Given the description of an element on the screen output the (x, y) to click on. 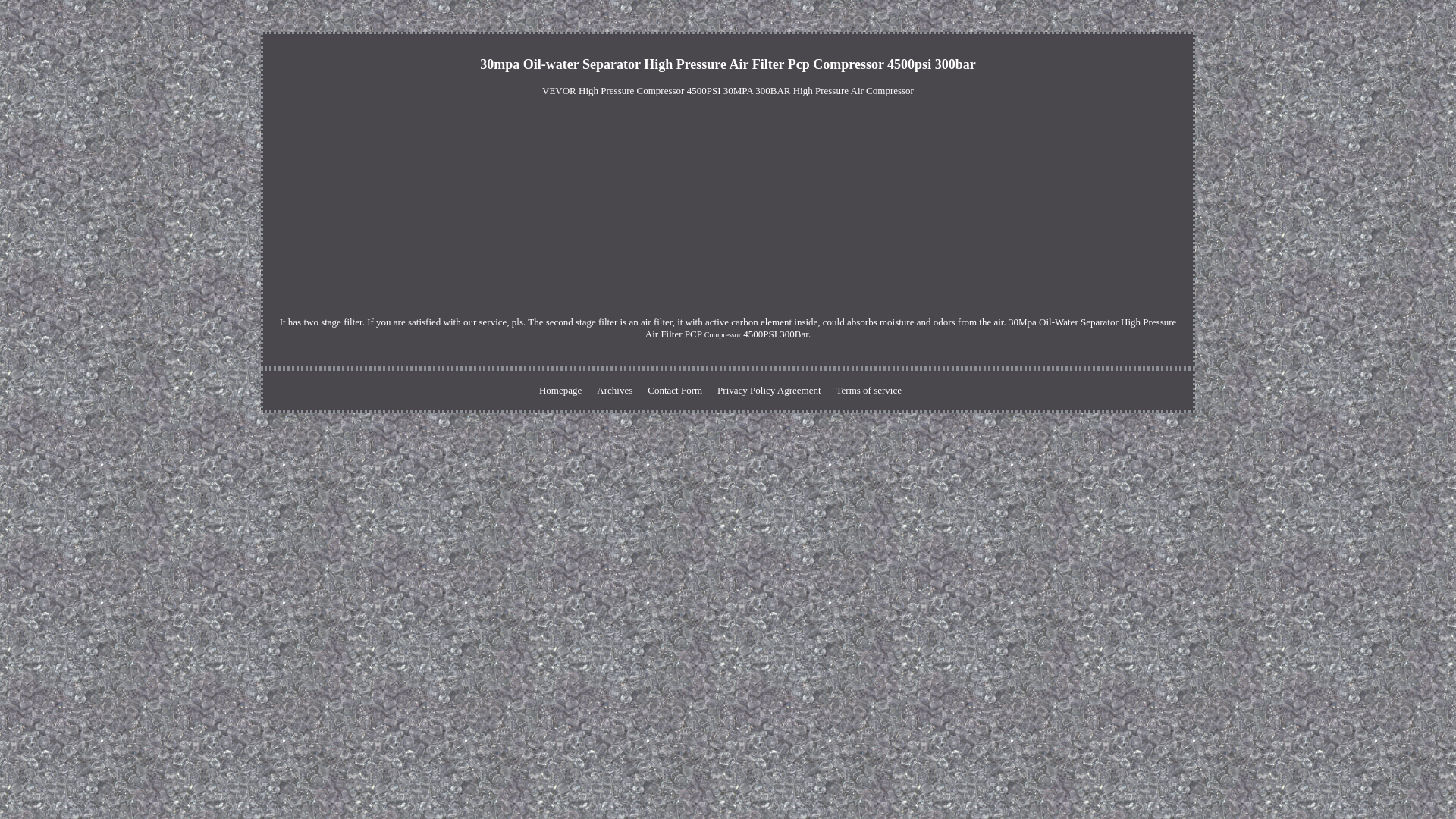
Compressor (722, 334)
